Given the description of an element on the screen output the (x, y) to click on. 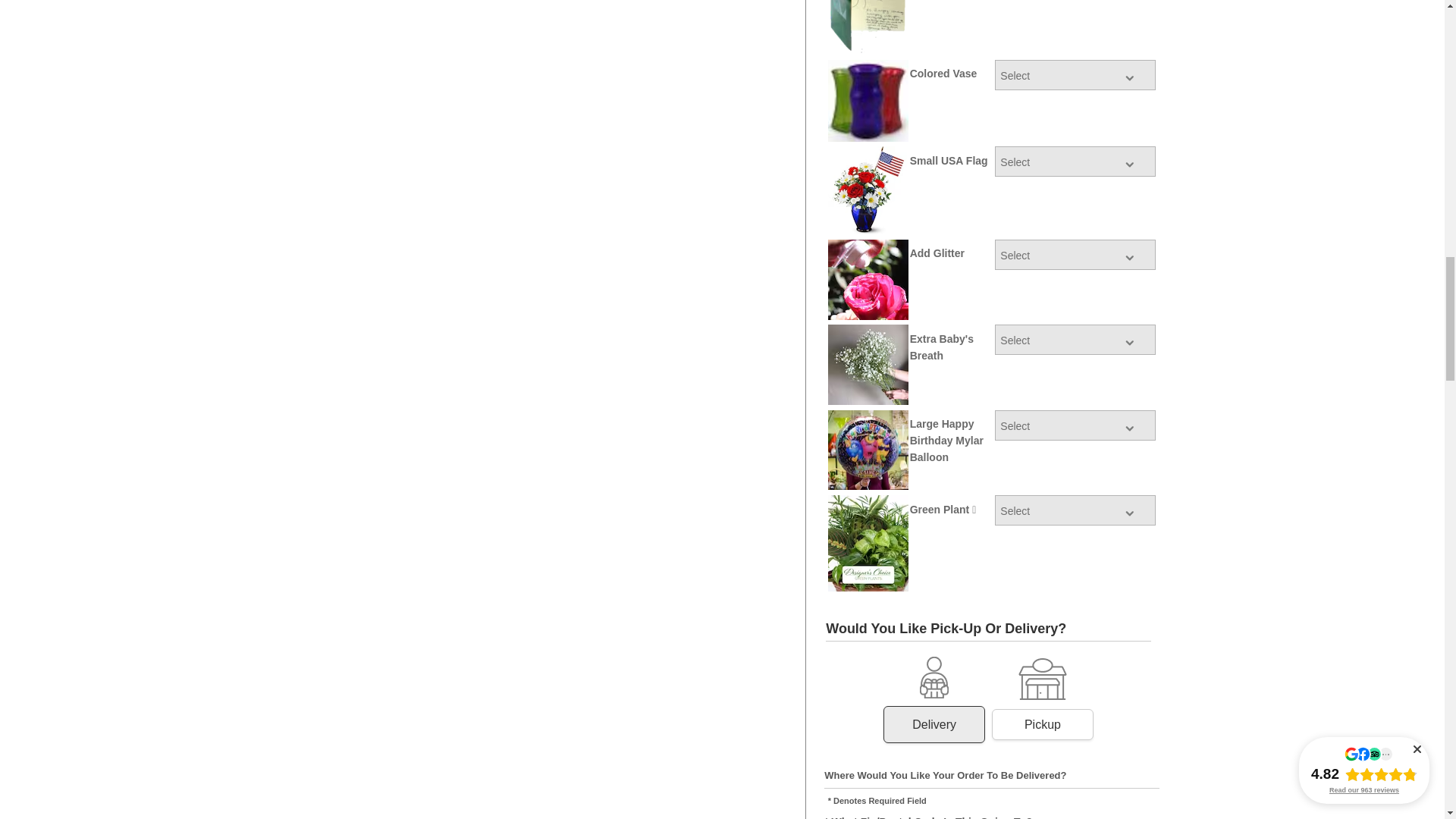
on (1042, 700)
Standard (1043, 724)
Standard (934, 724)
on (934, 699)
